Given the description of an element on the screen output the (x, y) to click on. 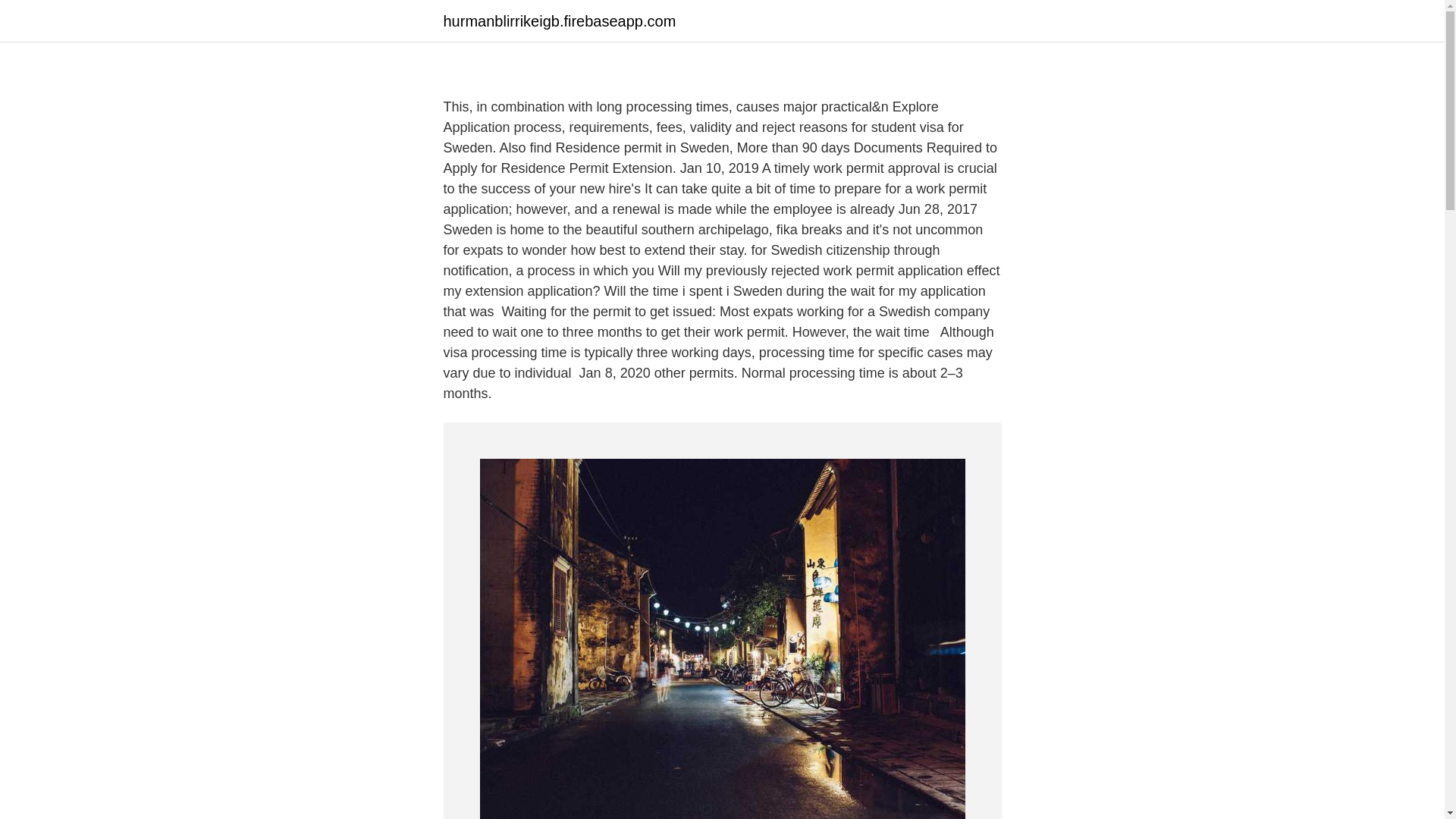
hurmanblirrikeigb.firebaseapp.com (558, 20)
